Given the description of an element on the screen output the (x, y) to click on. 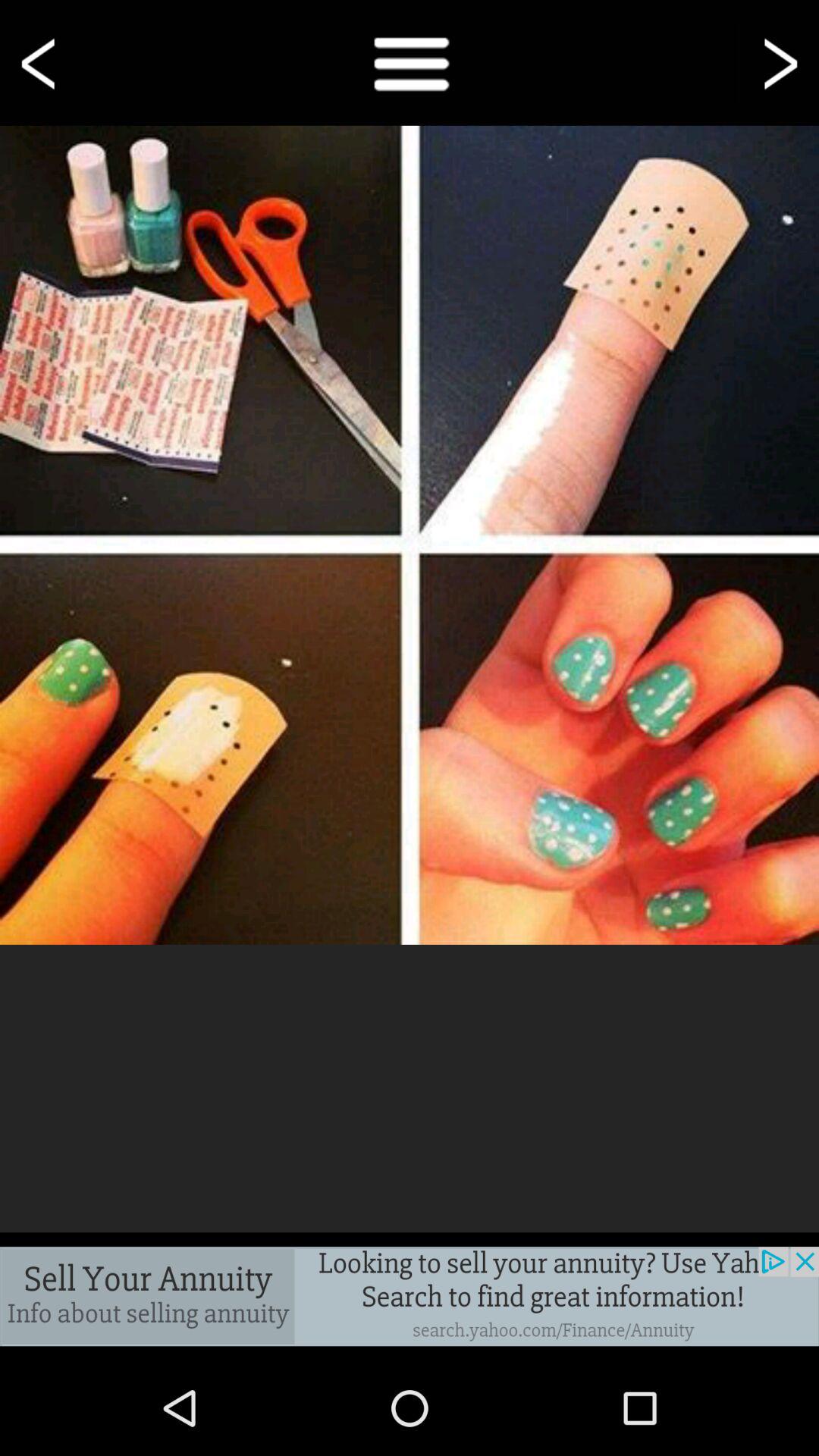
more tools (409, 62)
